Given the description of an element on the screen output the (x, y) to click on. 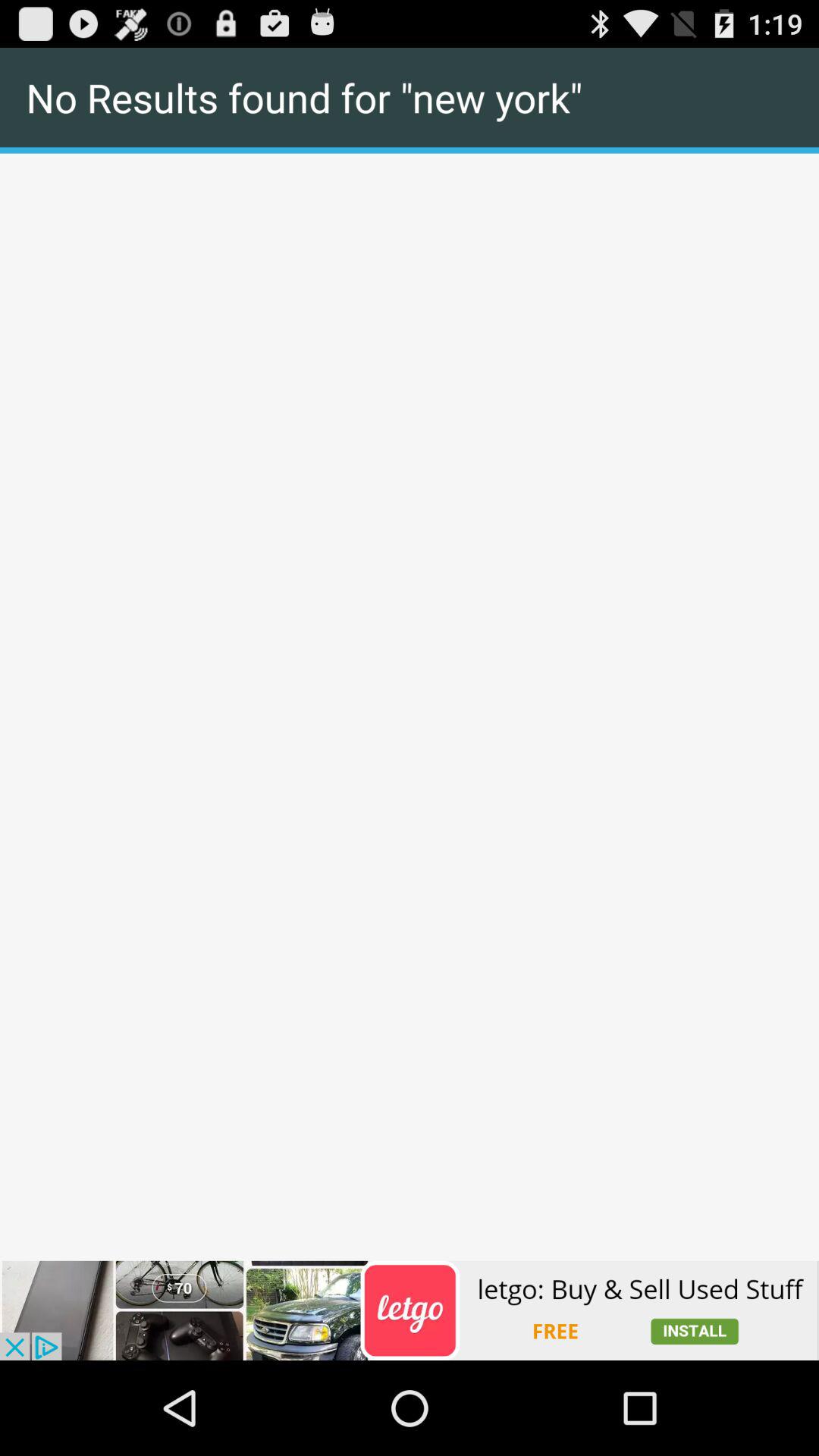
advertisement (409, 1310)
